Given the description of an element on the screen output the (x, y) to click on. 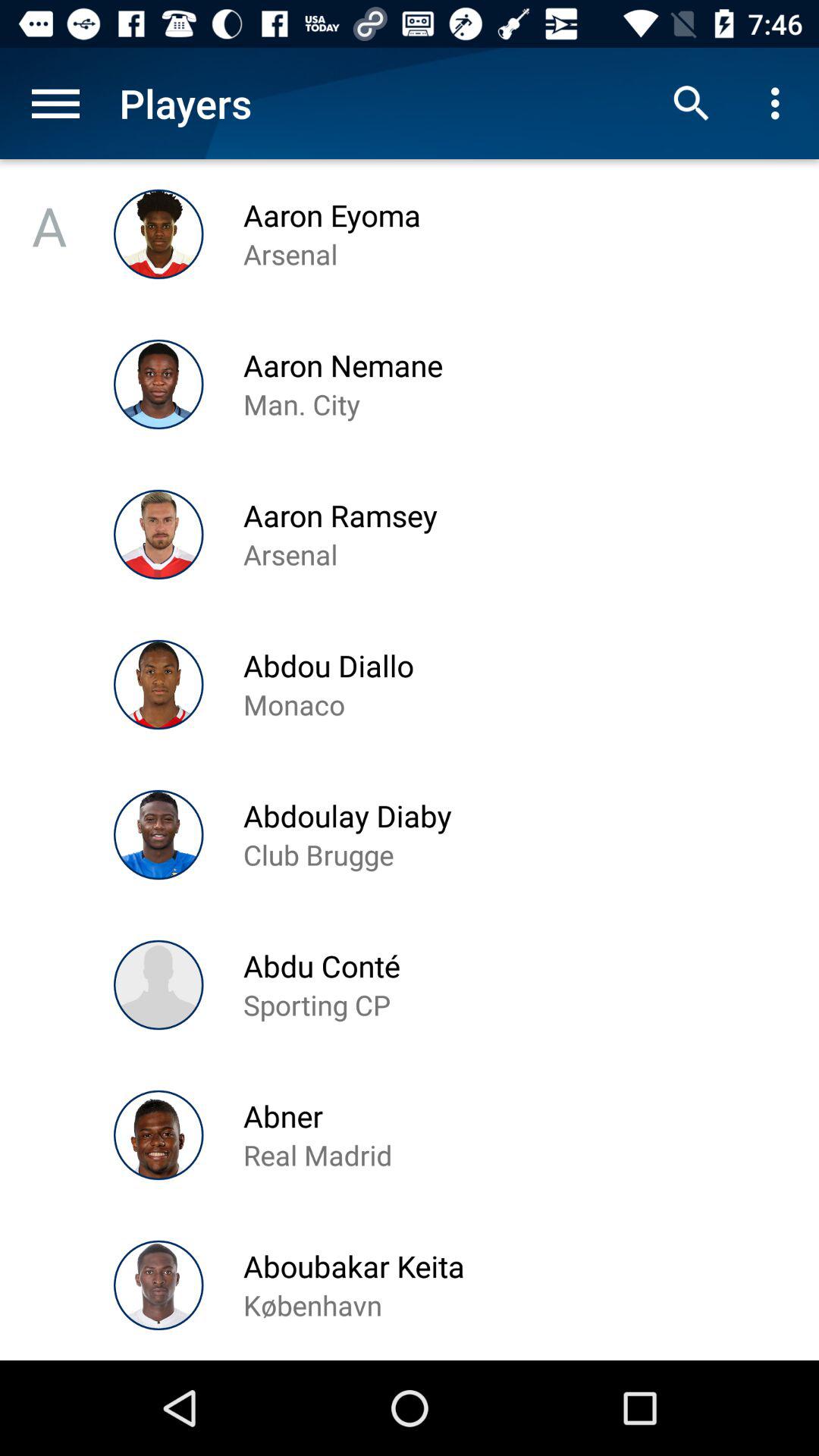
choose the third player in a (158, 534)
go to third image from bottom (158, 984)
click on the image which is aaron eyoma (158, 234)
click on the image left to the aaron nemane (158, 384)
